Given the description of an element on the screen output the (x, y) to click on. 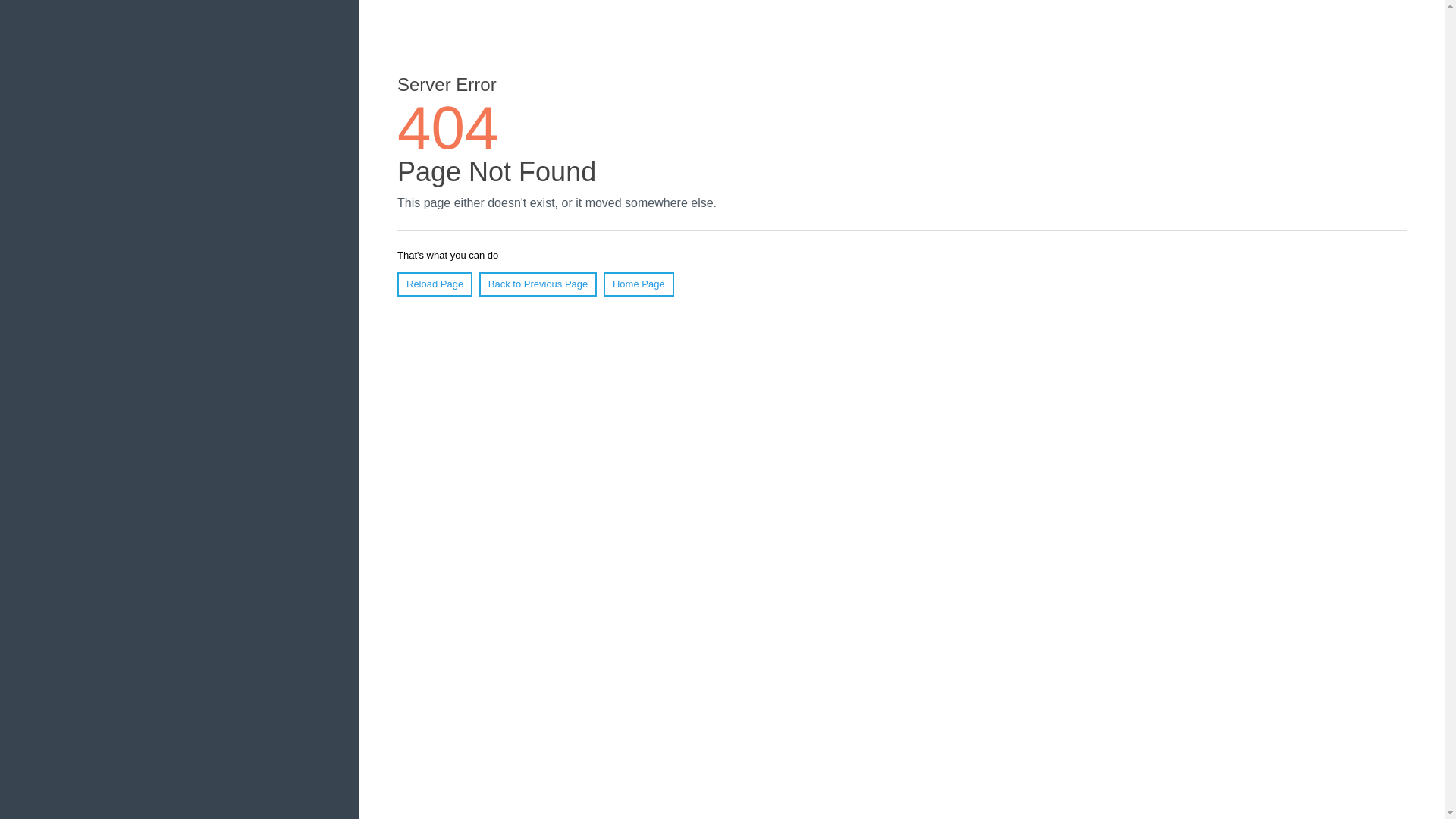
Back to Previous Page (537, 283)
Reload Page (434, 283)
Home Page (639, 283)
